Given the description of an element on the screen output the (x, y) to click on. 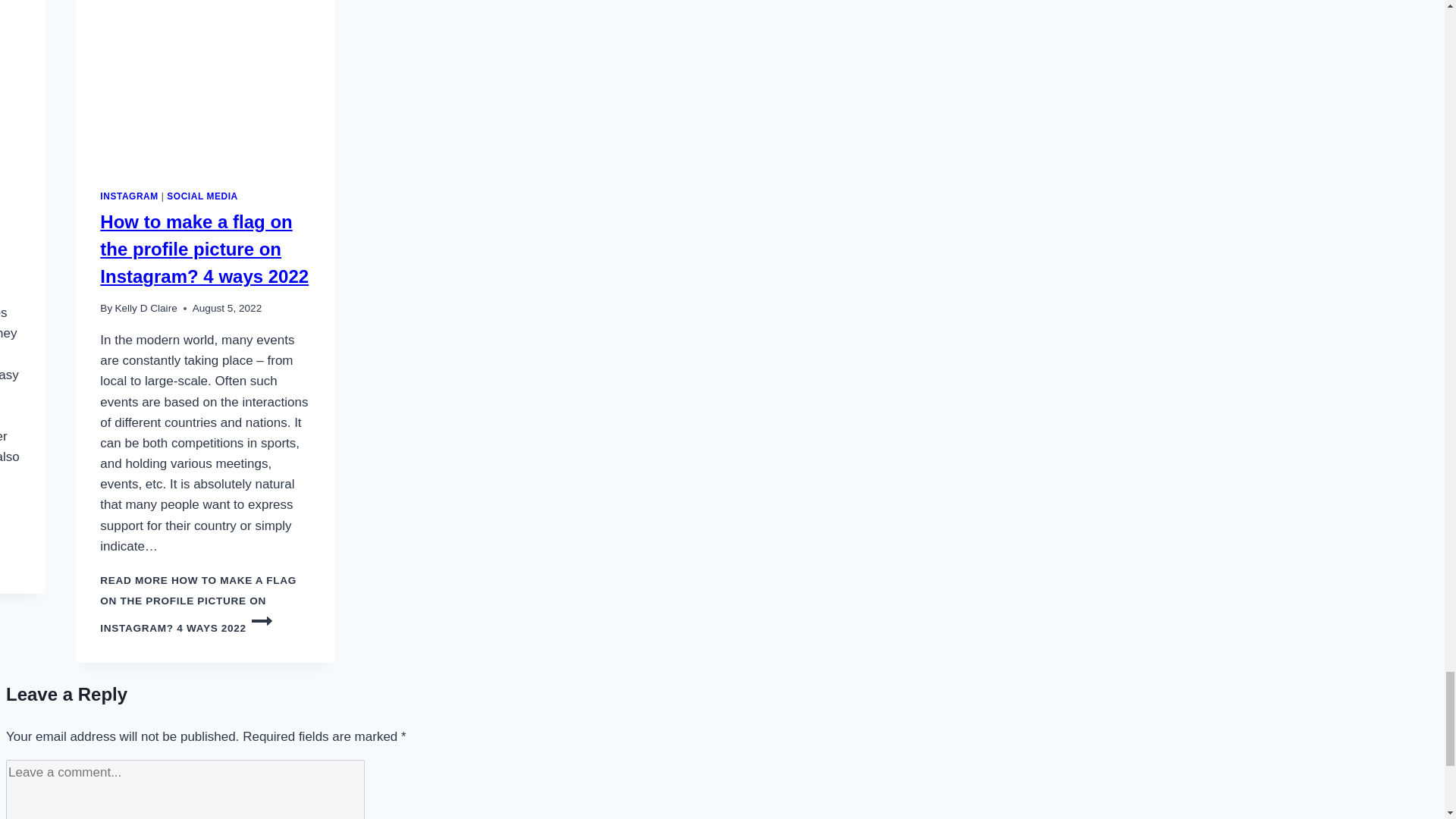
CONTINUE (261, 620)
